Given the description of an element on the screen output the (x, y) to click on. 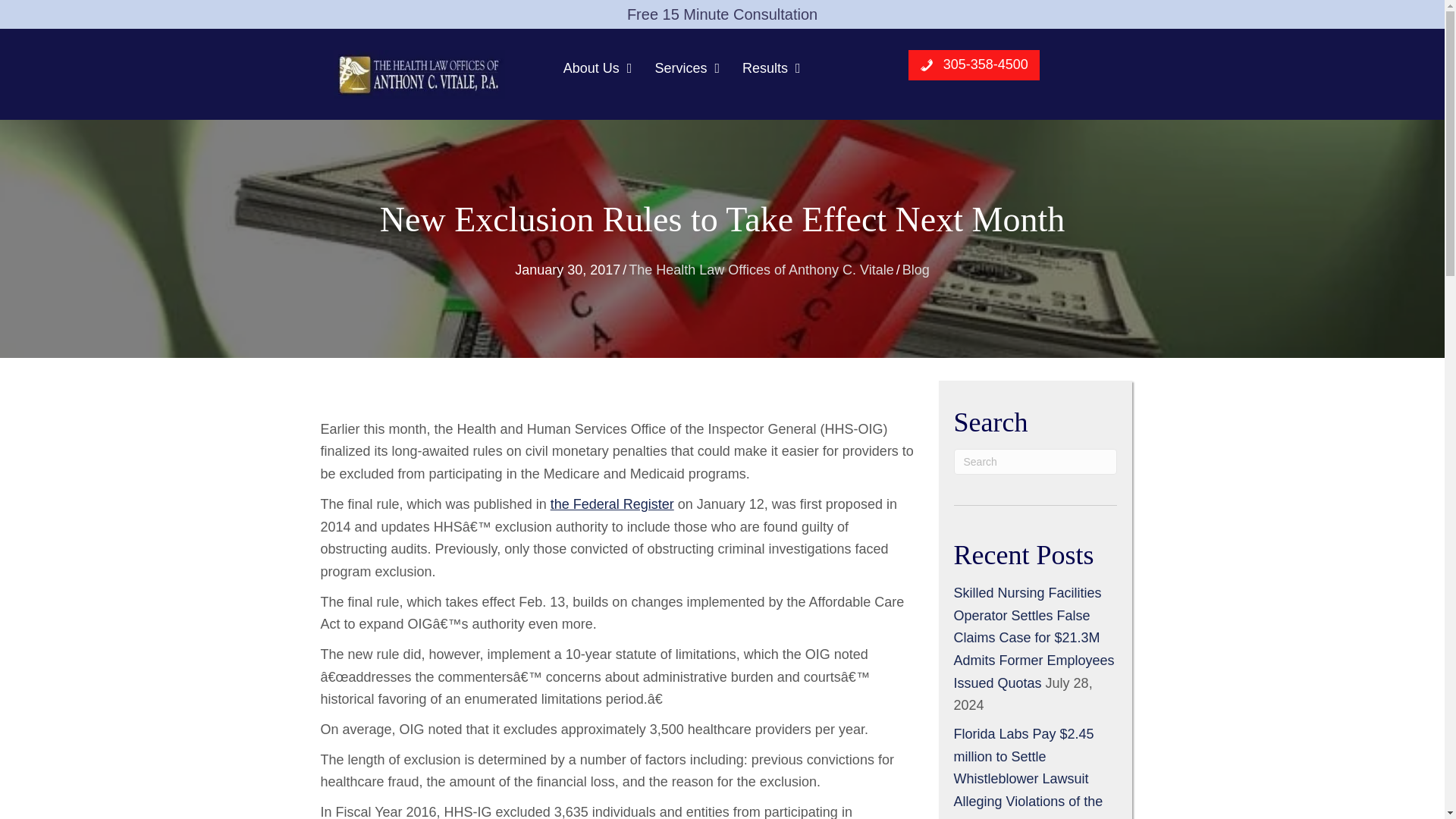
The Health Law Offices of Anthony C. Vitale (760, 269)
Type and press Enter to search. (1034, 461)
Services (686, 68)
Results (771, 68)
the Federal Register (612, 503)
Blog (916, 269)
About Us (598, 68)
305-358-4500 (973, 64)
